Given the description of an element on the screen output the (x, y) to click on. 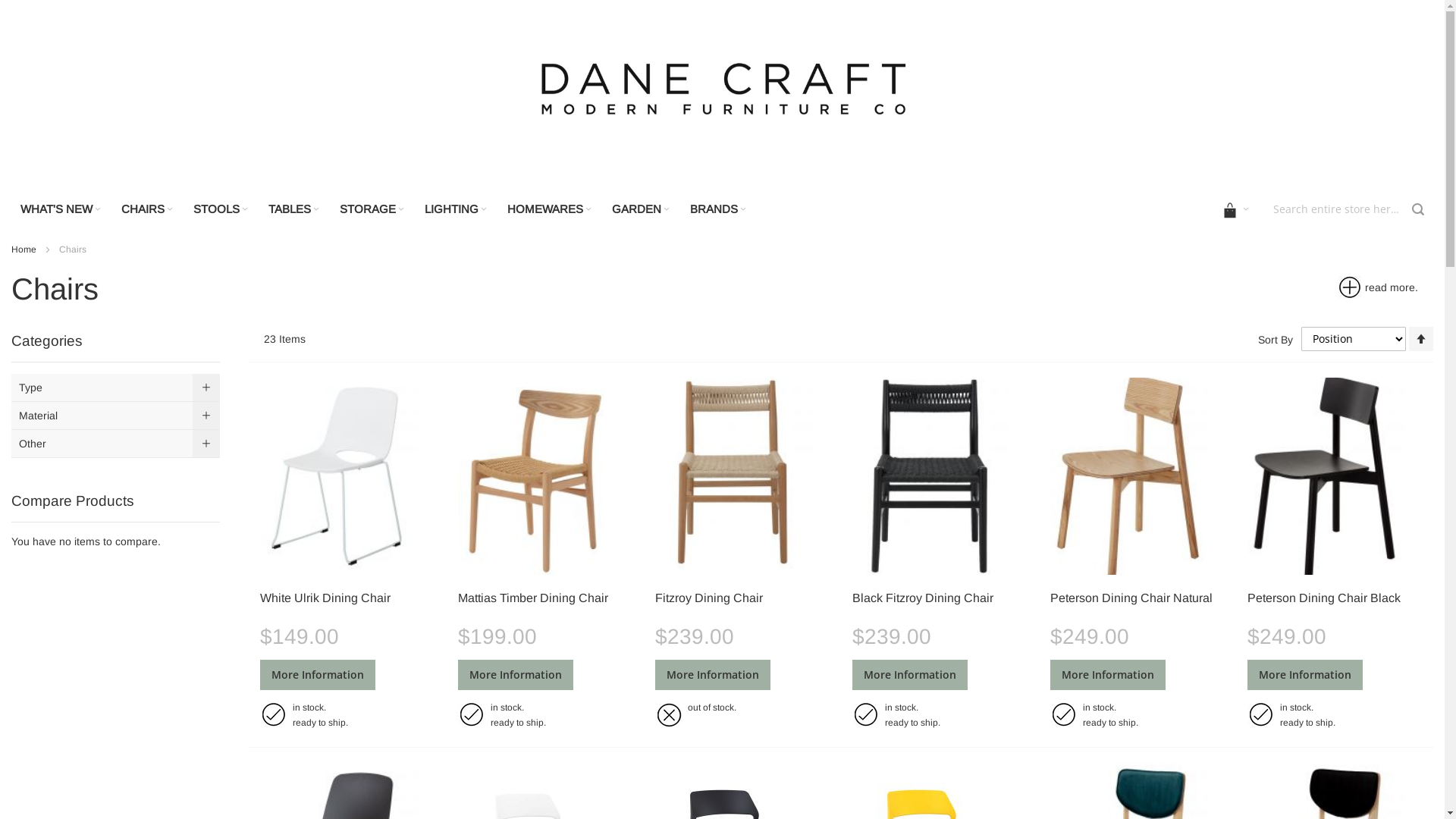
More Information Element type: text (1107, 674)
Peterson Dining Chair Black Element type: text (1323, 597)
GARDEN Element type: text (641, 209)
Type Element type: text (115, 387)
LIGHTING Element type: text (456, 209)
TABLES Element type: text (294, 209)
Dane Craft Element type: hover (722, 96)
Mattias Timber Dining Chair Element type: text (533, 597)
STOOLS Element type: text (221, 209)
STORAGE Element type: text (372, 209)
CHAIRS Element type: text (148, 209)
White Ulrik Dining Chair Element type: text (325, 597)
WHAT'S NEW Element type: text (61, 209)
More Information Element type: text (712, 674)
HOMEWARES Element type: text (550, 209)
More Information Element type: text (515, 674)
Set Descending Direction Element type: text (1420, 338)
Material Element type: text (115, 415)
Black Fitzroy Dining Chair Element type: text (922, 597)
Search Element type: hover (1417, 208)
More Information Element type: text (1304, 674)
Fitzroy Dining Chair Element type: text (708, 597)
Other Element type: text (115, 443)
More Information Element type: text (909, 674)
Peterson Dining Chair Natural Element type: text (1131, 597)
Home Element type: text (24, 249)
More Information Element type: text (317, 674)
BRANDS Element type: text (718, 209)
